Given the description of an element on the screen output the (x, y) to click on. 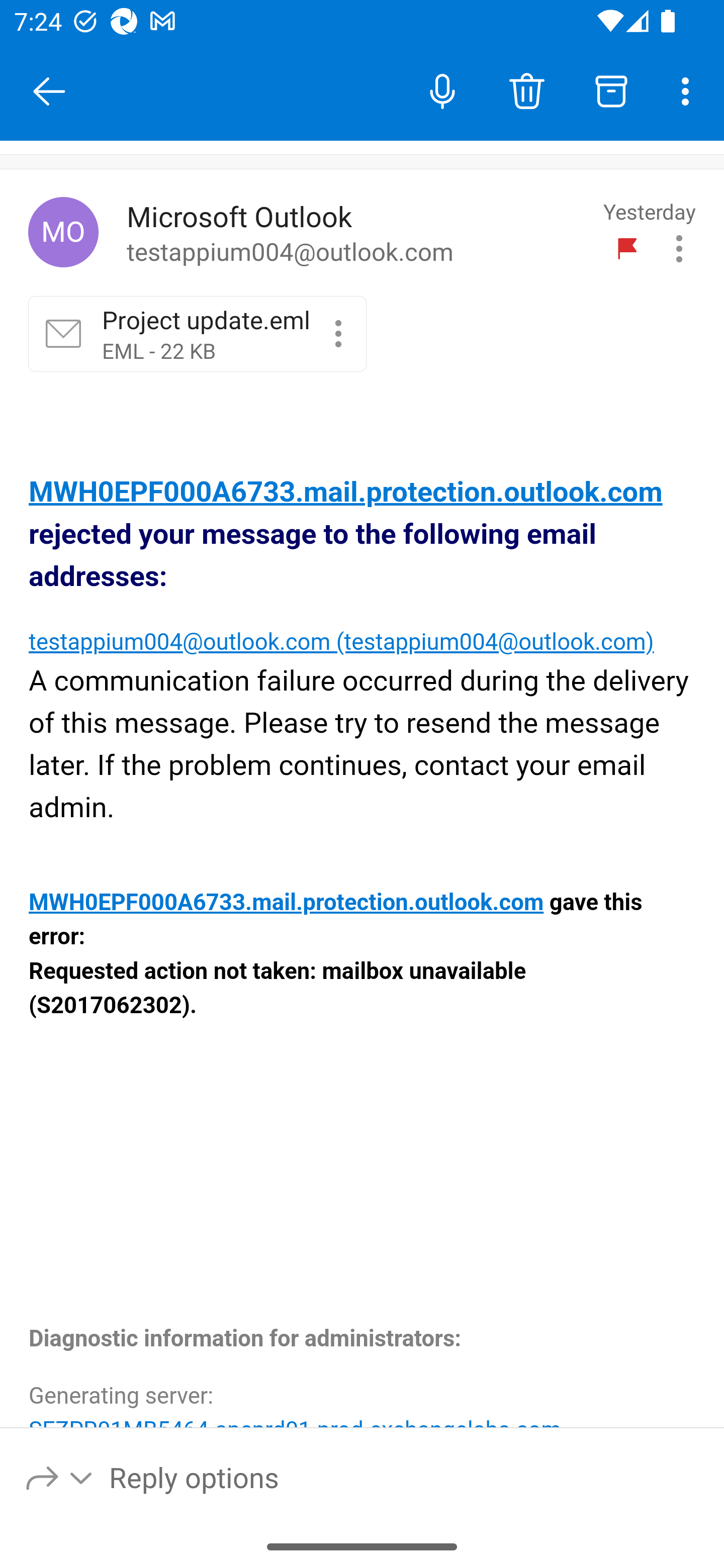
Close (49, 91)
Delete (526, 90)
Archive (611, 90)
More options (688, 90)
Microsoft Outlook
to testappium004@outlook.com (357, 232)
Message actions (679, 248)
Project update.eml (338, 333)
MWH0EPF000A6733.mail.protection.outlook.com (345, 492)
MWH0EPF000A6733.mail.protection.outlook.com (285, 903)
Reply options (59, 1476)
